Given the description of an element on the screen output the (x, y) to click on. 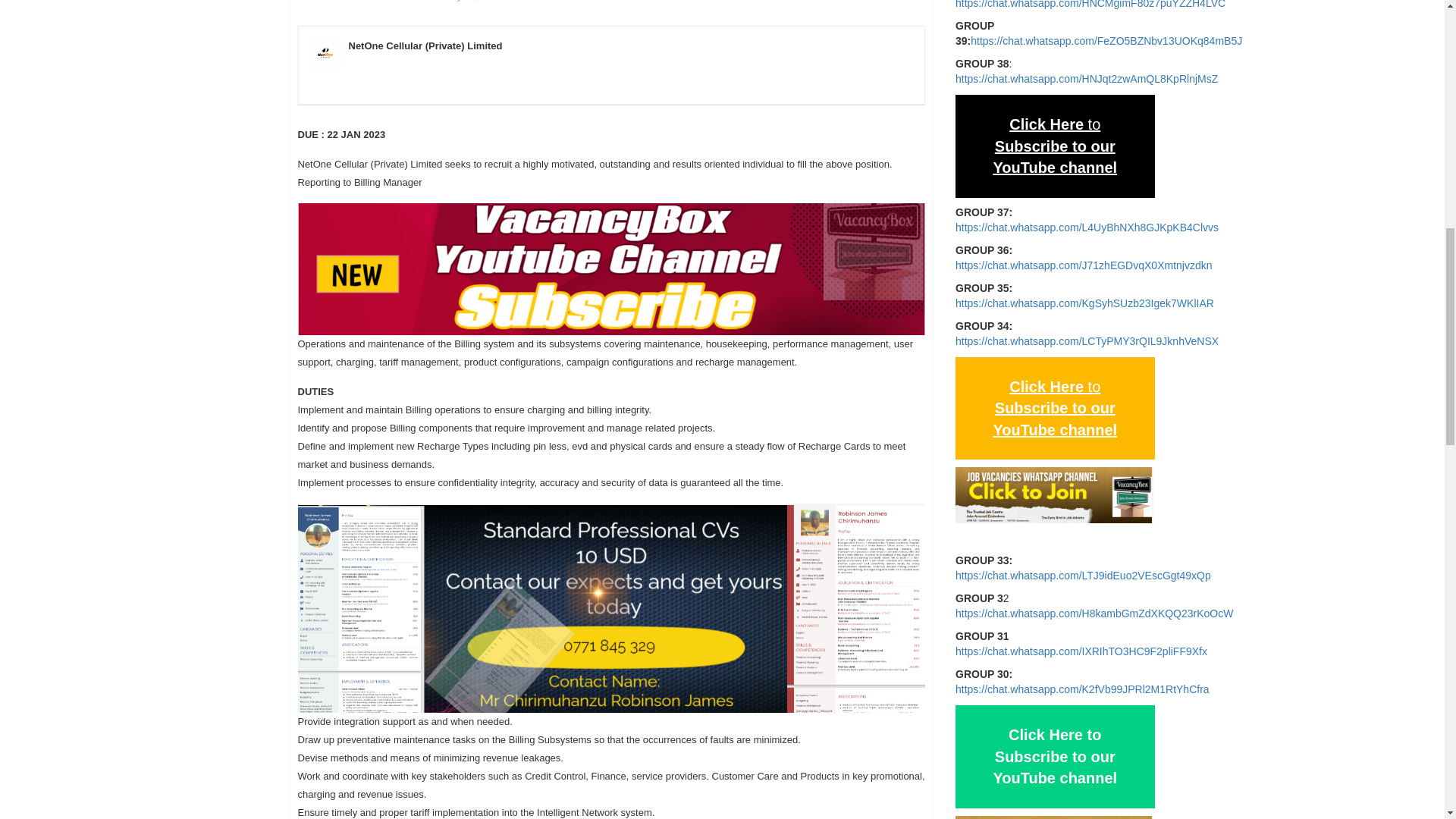
Harare (330, 0)
Click Here to Subscribe to our YouTube channel (1054, 146)
